Given the description of an element on the screen output the (x, y) to click on. 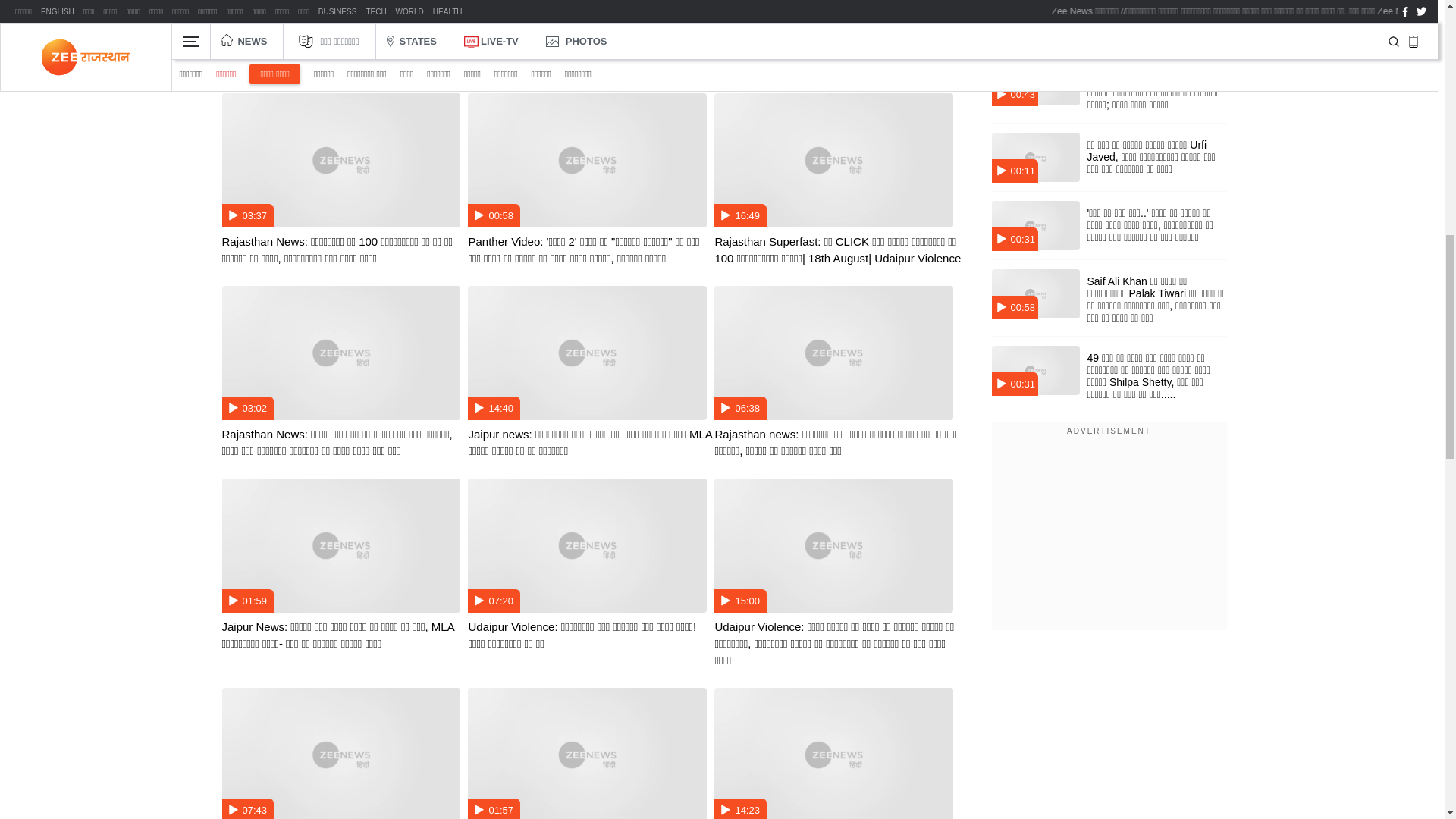
Share on twitter (282, 9)
Share on whatsapp (227, 9)
Share on Linkedin (310, 9)
Share on facebook (254, 9)
